Given the description of an element on the screen output the (x, y) to click on. 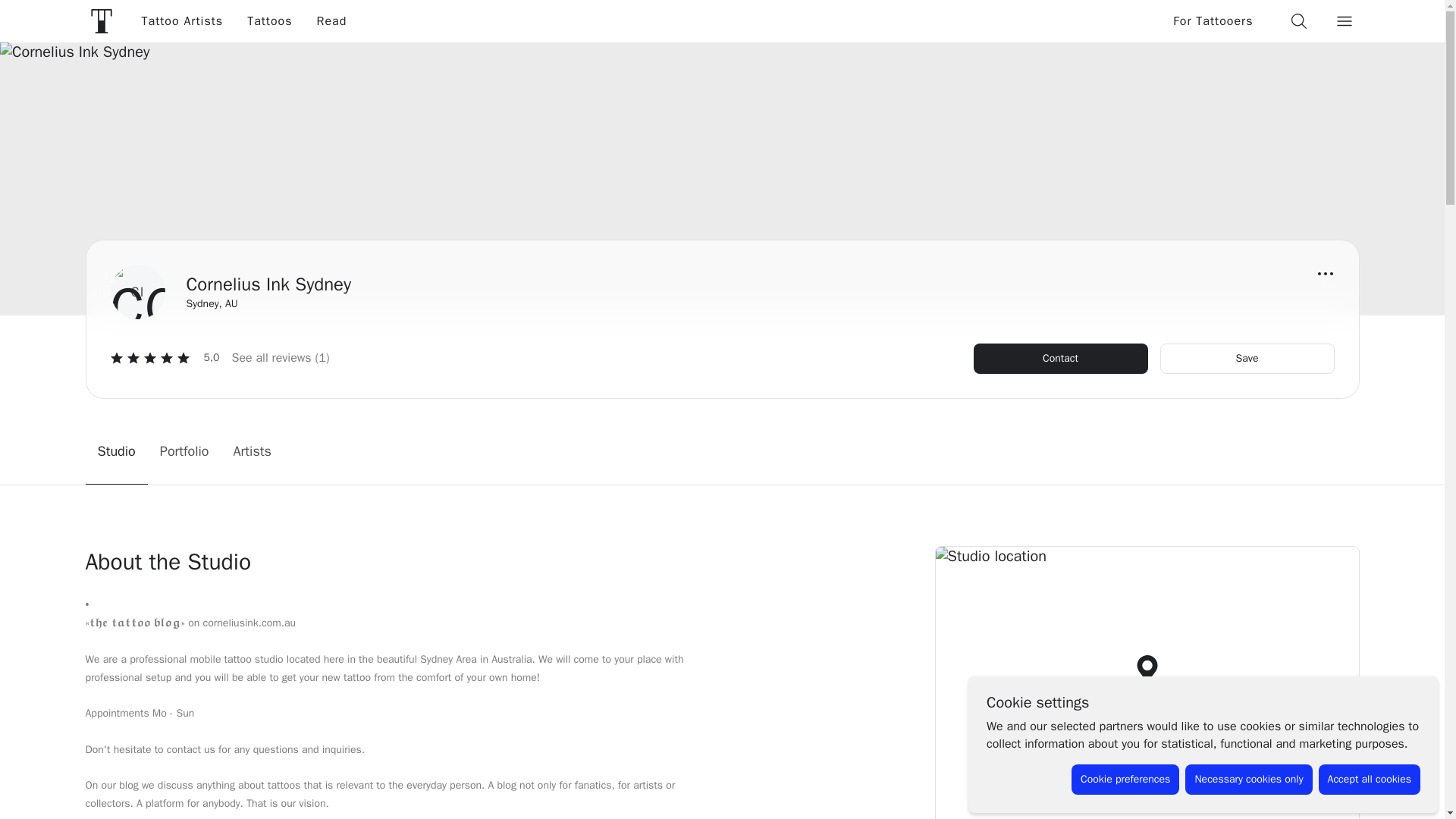
Contact (1061, 358)
Save (1247, 358)
Portfolio (184, 451)
Tattoo Artists (181, 21)
Tattoos (269, 21)
Accept all cookies (1370, 779)
Read (331, 21)
Necessary cookies only (1248, 779)
Studio (115, 451)
CI (137, 291)
Artists (252, 451)
Cookie preferences (1125, 779)
For Tattooers (1212, 21)
